Given the description of an element on the screen output the (x, y) to click on. 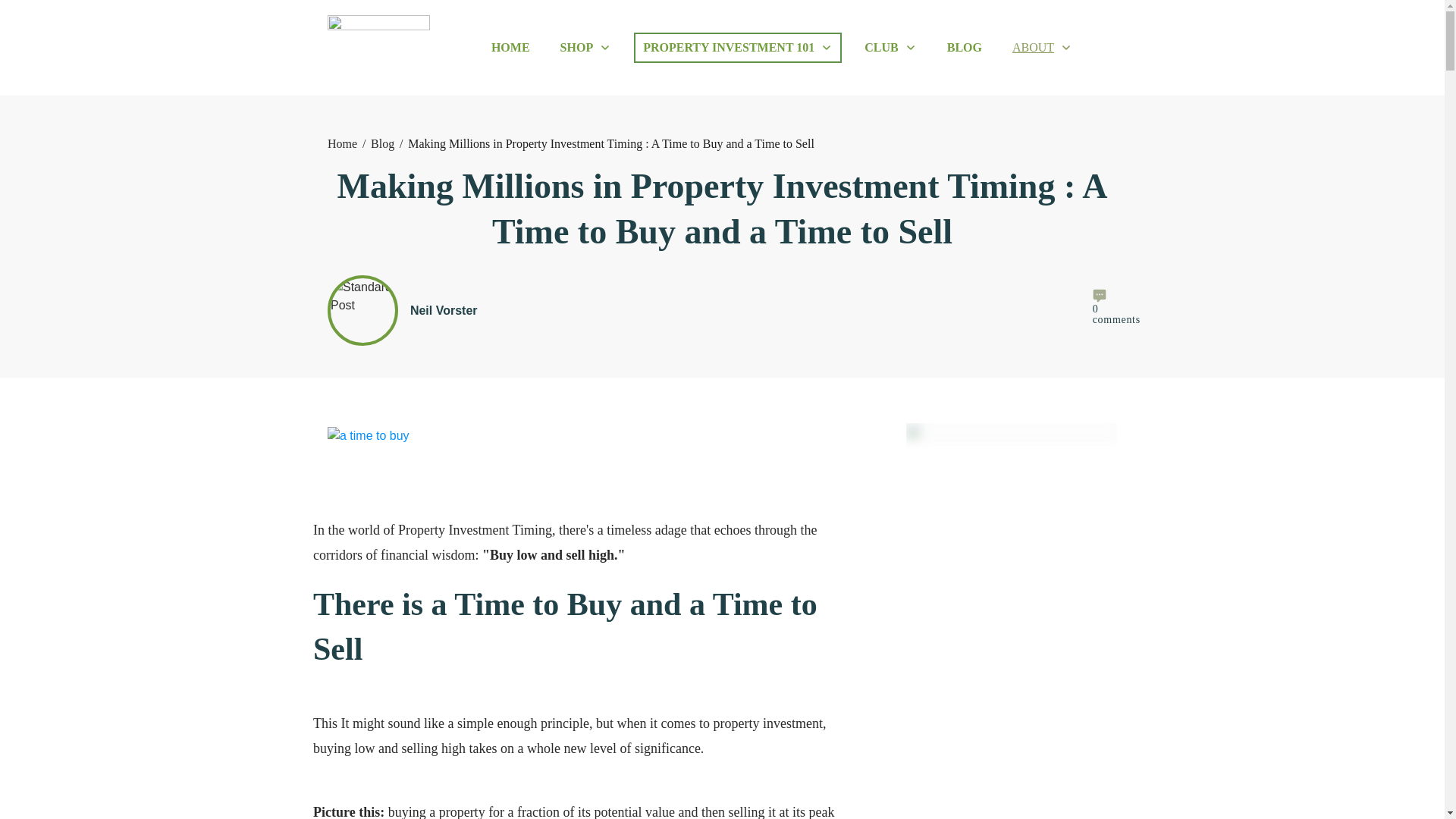
Standard Post (362, 310)
CLUB (889, 47)
ABOUT (1041, 47)
Blog (382, 144)
PROPERTY INVESTMENT 101 (737, 47)
SHOP (585, 47)
Membership Options (889, 47)
